Given the description of an element on the screen output the (x, y) to click on. 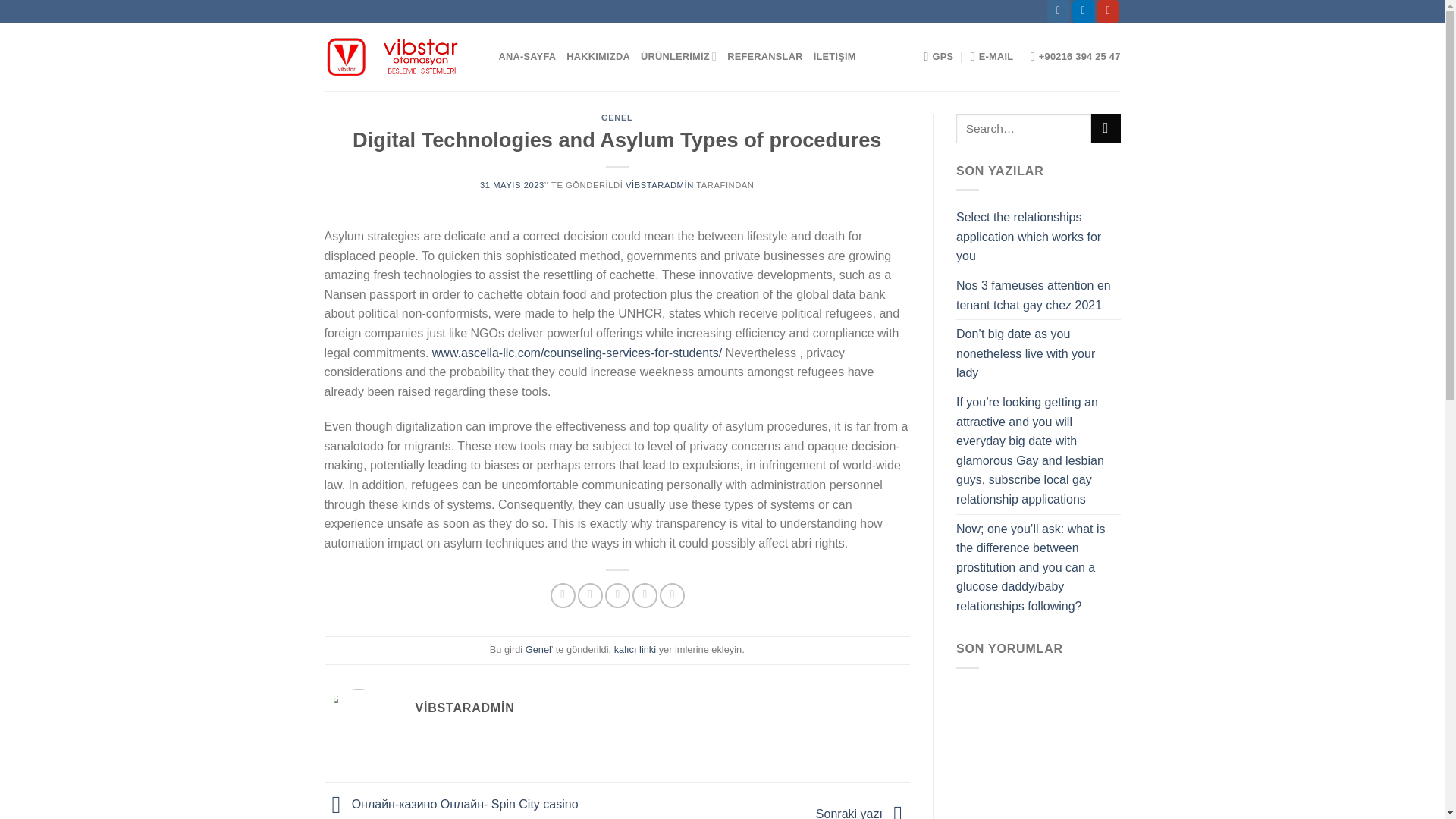
REFERANSLAR (764, 56)
ANA-SAYFA (527, 56)
GPS (938, 56)
Genel (538, 649)
Instagram' da Takip Edin (1058, 11)
31 MAYIS 2023 (512, 184)
40.882792, 29.345672 (938, 56)
GENEL (616, 117)
Youtube' ta Takip Edin (1107, 11)
